Given the description of an element on the screen output the (x, y) to click on. 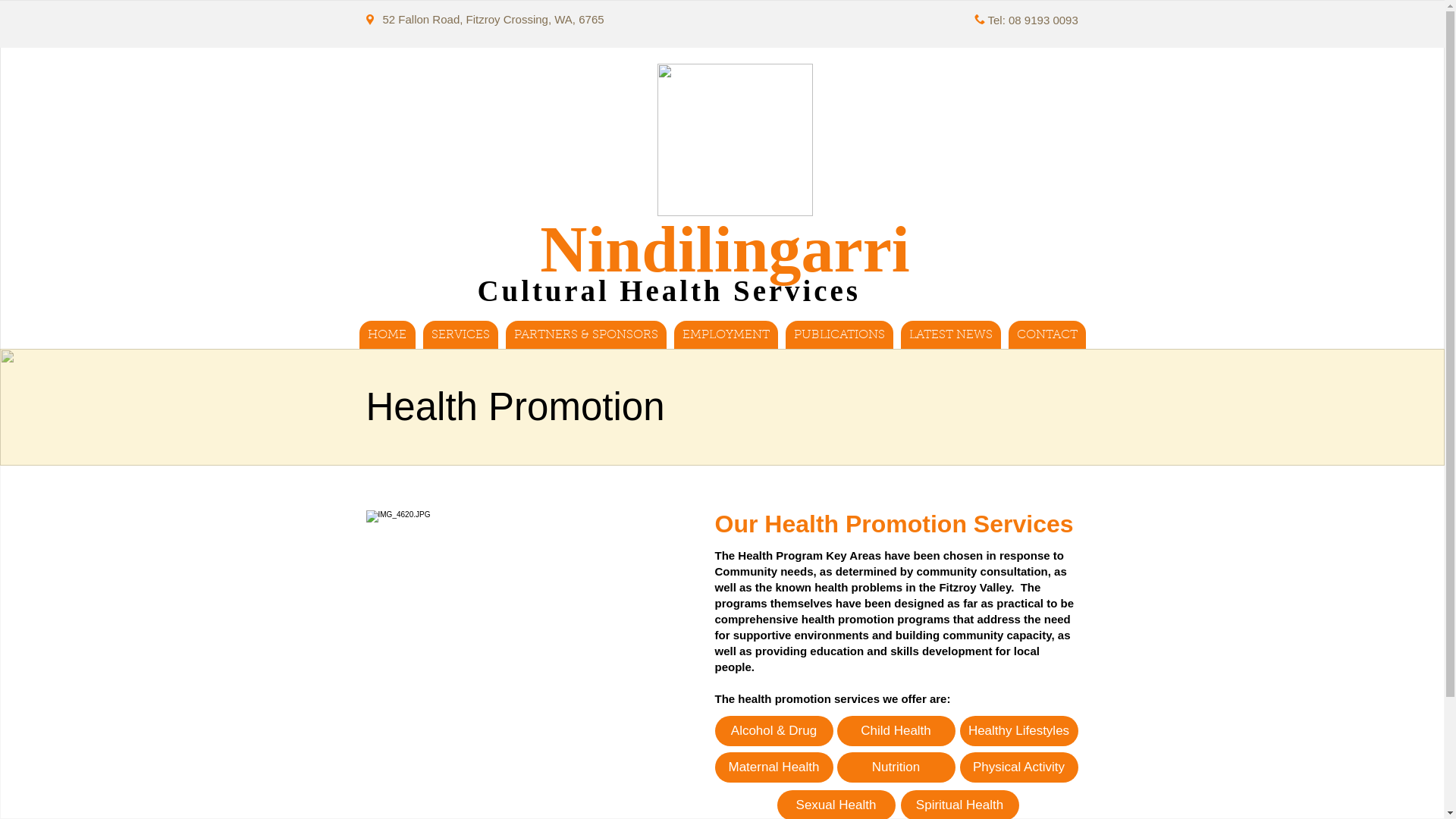
PUBLICATIONS Element type: text (839, 334)
Alcohol & Drug Element type: text (773, 730)
Healthy Lifestyles Element type: text (1019, 730)
HOME Element type: text (387, 334)
Cultural Health Services Element type: text (668, 290)
Child Health Element type: text (896, 730)
LATEST NEWS Element type: text (950, 334)
Maternal Health Element type: text (773, 767)
PARTNERS & SPONSORS Element type: text (585, 334)
Nindilingarri Element type: text (724, 249)
20160628_094048.jpg Element type: hover (523, 659)
Physical Activity Element type: text (1019, 767)
Nutrition Element type: text (896, 767)
EMPLOYMENT Element type: text (725, 334)
CONTACT Element type: text (1046, 334)
SERVICES Element type: text (460, 334)
